Given the description of an element on the screen output the (x, y) to click on. 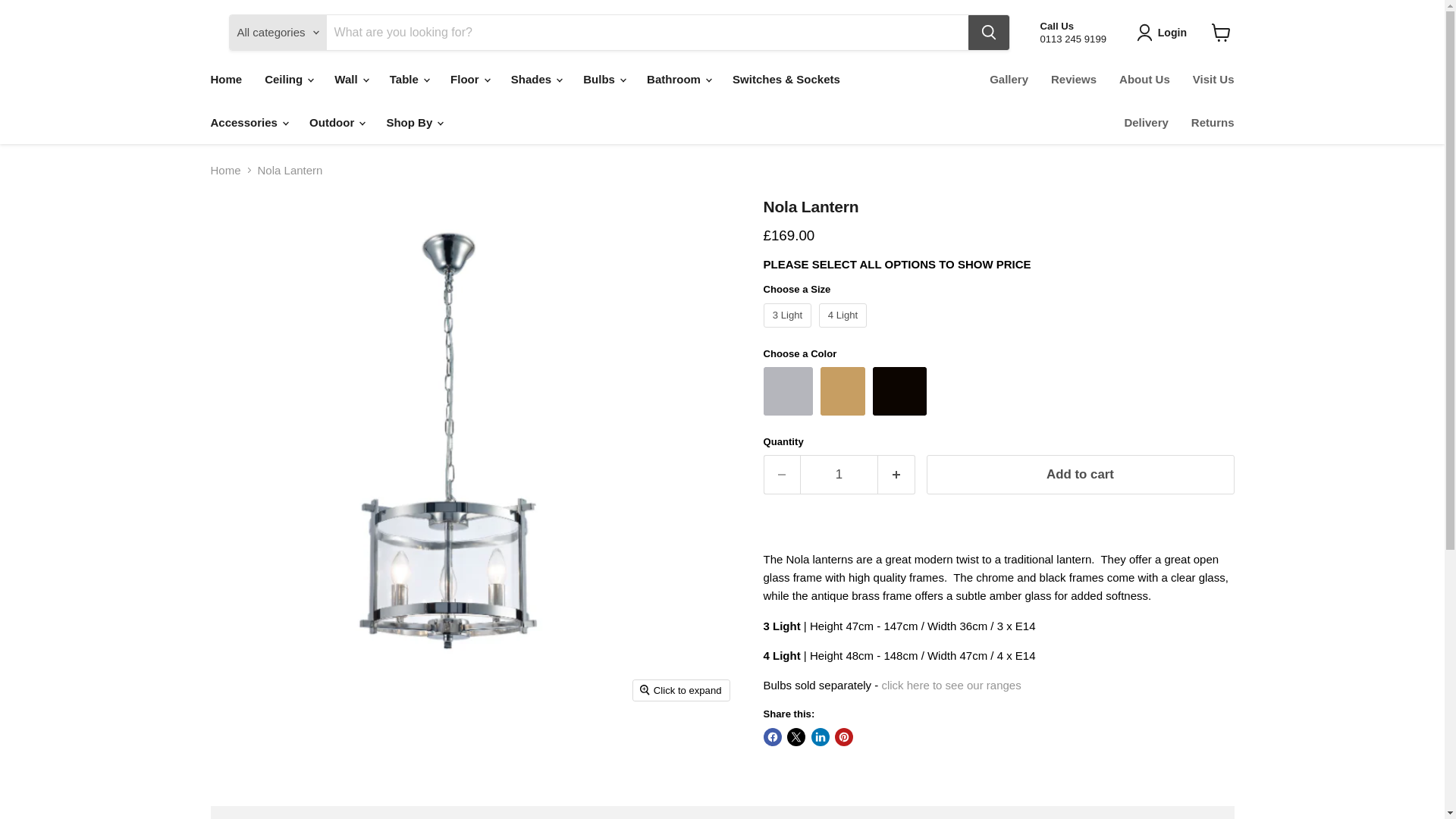
Home (225, 79)
Bulbs (950, 684)
Login (1164, 32)
1 (838, 474)
View cart (1221, 32)
